Given the description of an element on the screen output the (x, y) to click on. 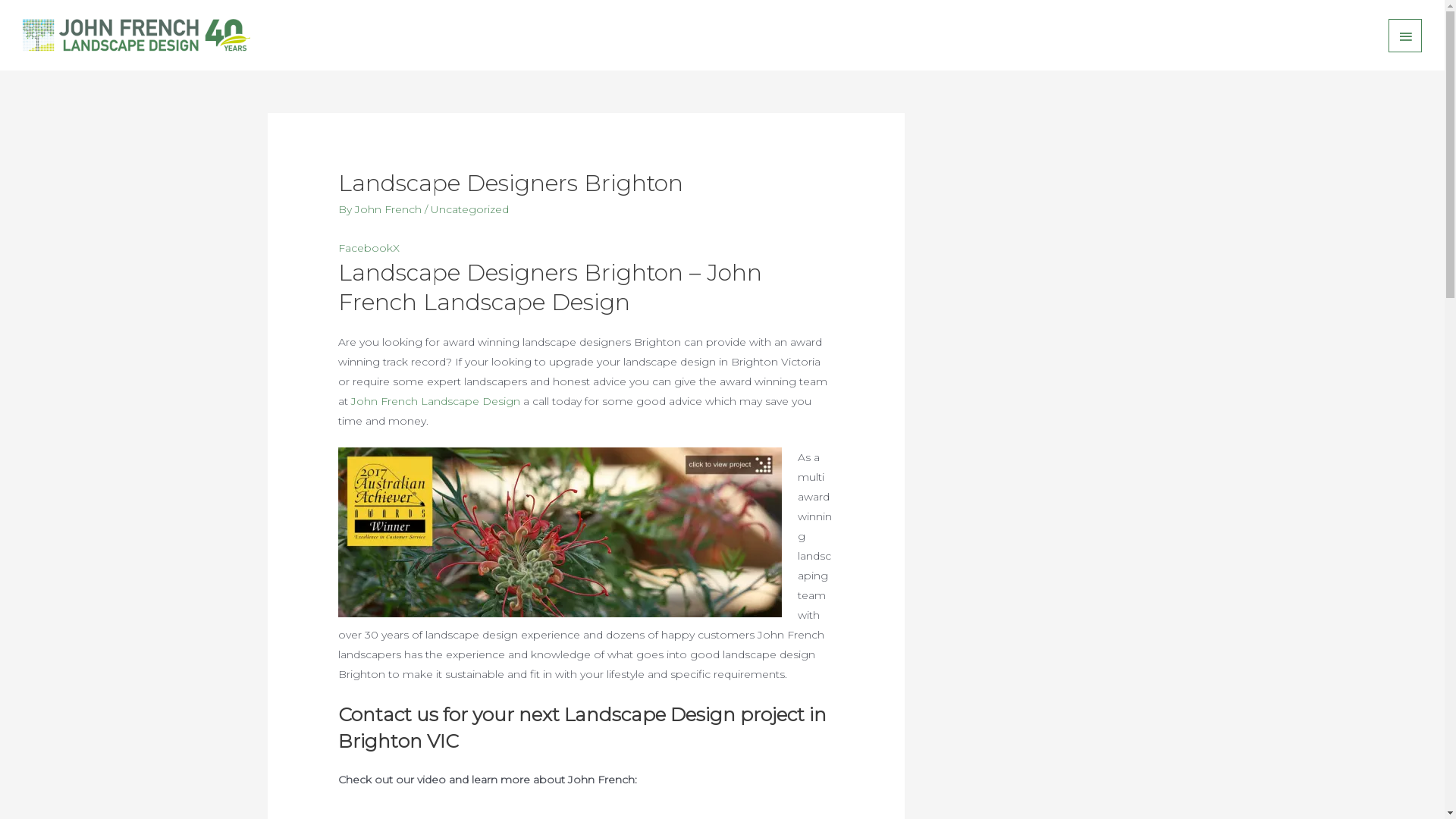
John French Element type: text (389, 209)
Facebook Element type: text (365, 247)
Uncategorized Element type: text (469, 209)
John French Landscape Design Element type: text (435, 400)
X Element type: text (395, 247)
